Given the description of an element on the screen output the (x, y) to click on. 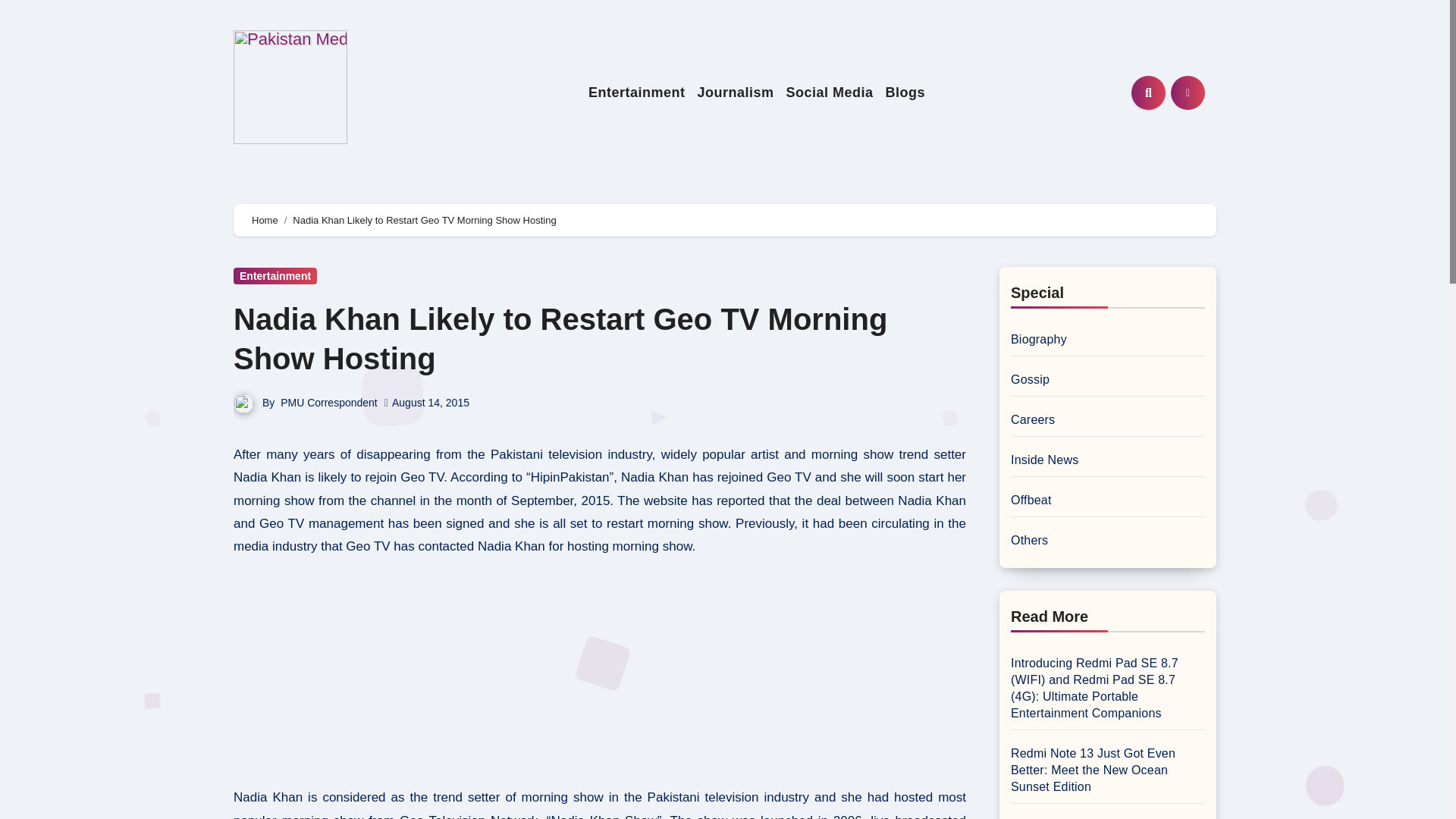
Social Media (828, 92)
Social Media (828, 92)
Home (264, 220)
Entertainment (636, 92)
Nadia Khan Likely to Restart Geo TV Morning Show Hosting (559, 338)
Blogs (905, 92)
Journalism (734, 92)
August 14, 2015 (429, 402)
Careers (1032, 419)
